Given the description of an element on the screen output the (x, y) to click on. 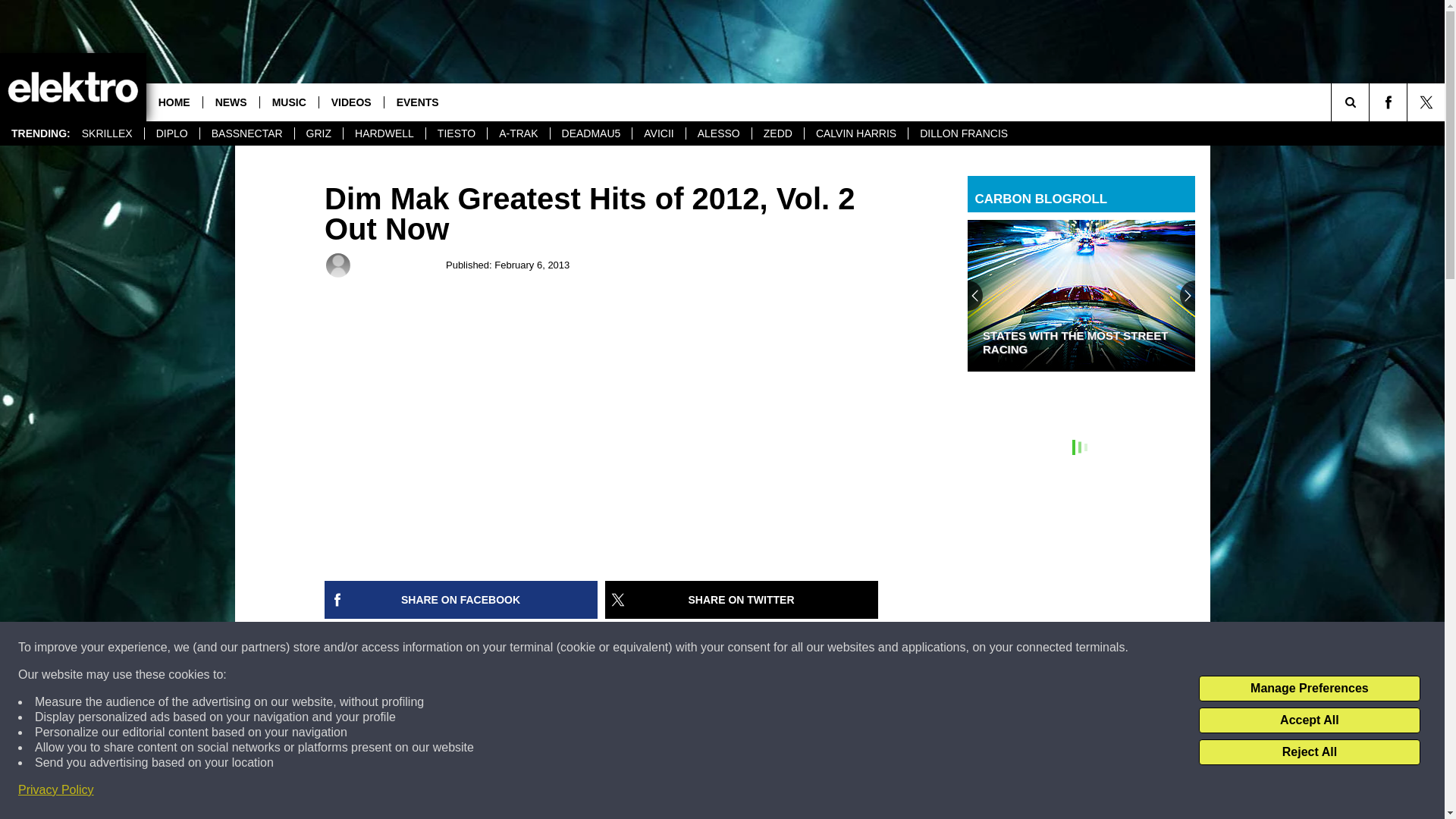
NEWS (230, 102)
AVICII (657, 133)
Camille Cushman (401, 264)
SEARCH (1371, 102)
TIESTO (455, 133)
SHARE ON TWITTER (741, 599)
Manage Preferences (1309, 688)
A-TRAK (517, 133)
SEARCH (1371, 102)
Share on Twitter (741, 599)
Visit us on Facebook (1388, 102)
CALVIN HARRIS (855, 133)
ALESSO (718, 133)
DILLON FRANCIS (963, 133)
MUSIC (288, 102)
